Given the description of an element on the screen output the (x, y) to click on. 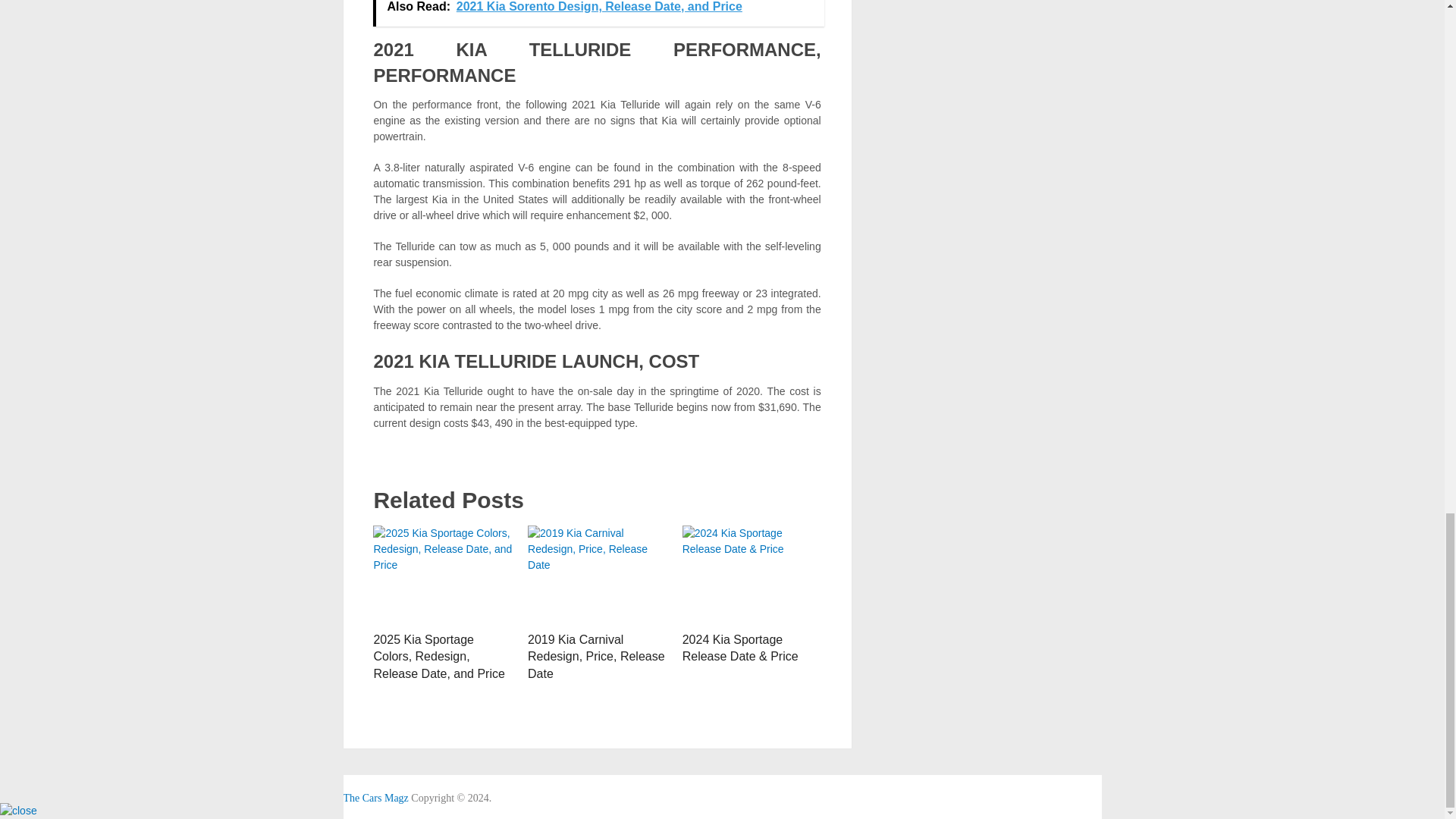
The Cars Magz (374, 797)
2019 Kia Carnival Redesign, Price, Release Date (596, 574)
2025 Kia Sportage Colors, Redesign, Release Date, and Price (442, 574)
2025 Kia Sportage Colors, Redesign, Release Date, and Price (437, 656)
2025 Kia Sportage Colors, Redesign, Release Date, and Price (437, 656)
Also Read:  2021 Kia Sorento Design, Release Date, and Price (598, 13)
2019 Kia Carnival Redesign, Price, Release Date (596, 656)
2019 Kia Carnival Redesign, Price, Release Date (596, 656)
